Given the description of an element on the screen output the (x, y) to click on. 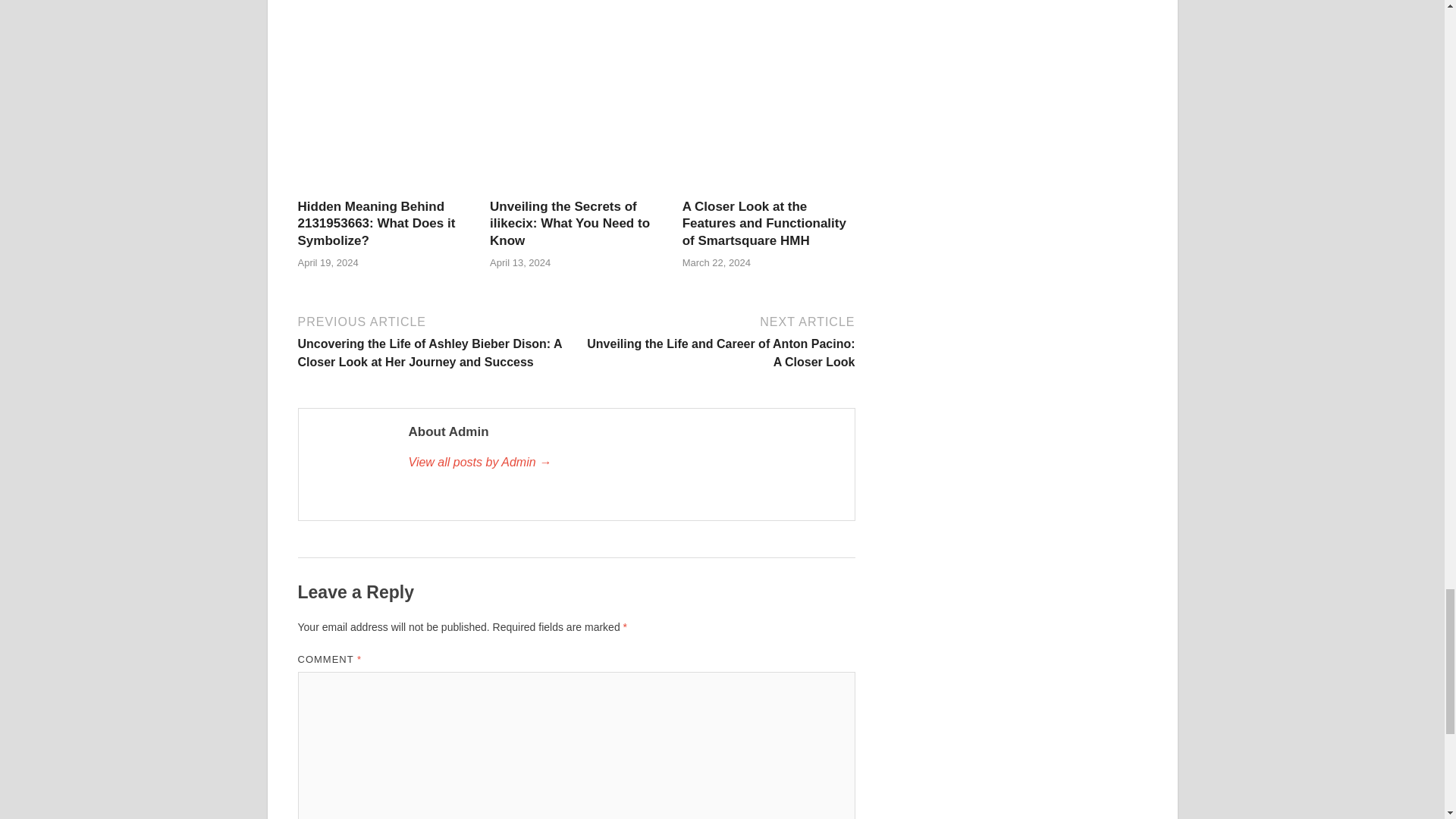
Hidden Meaning Behind 2131953663: What Does it Symbolize? (383, 188)
Unveiling the Secrets of ilikecix: What You Need to Know (575, 188)
Unveiling the Secrets of ilikecix: What You Need to Know (569, 223)
Hidden Meaning Behind 2131953663: What Does it Symbolize? (375, 223)
Admin (622, 462)
